Given the description of an element on the screen output the (x, y) to click on. 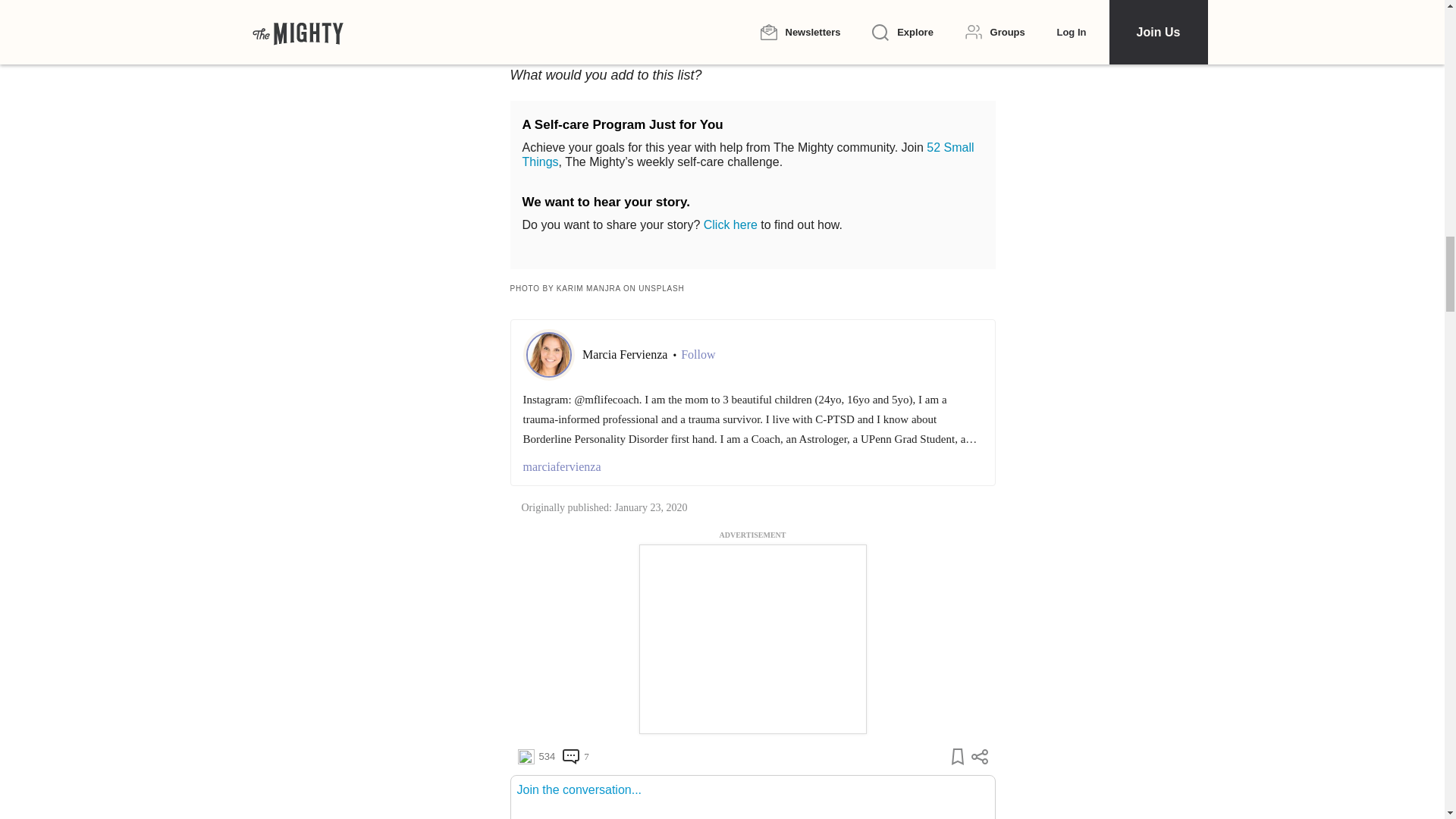
Follow (697, 354)
52 Small Things (747, 154)
marciafervienza (752, 466)
Click here (730, 224)
534 (535, 756)
Marcia Fervienza (625, 354)
